Given the description of an element on the screen output the (x, y) to click on. 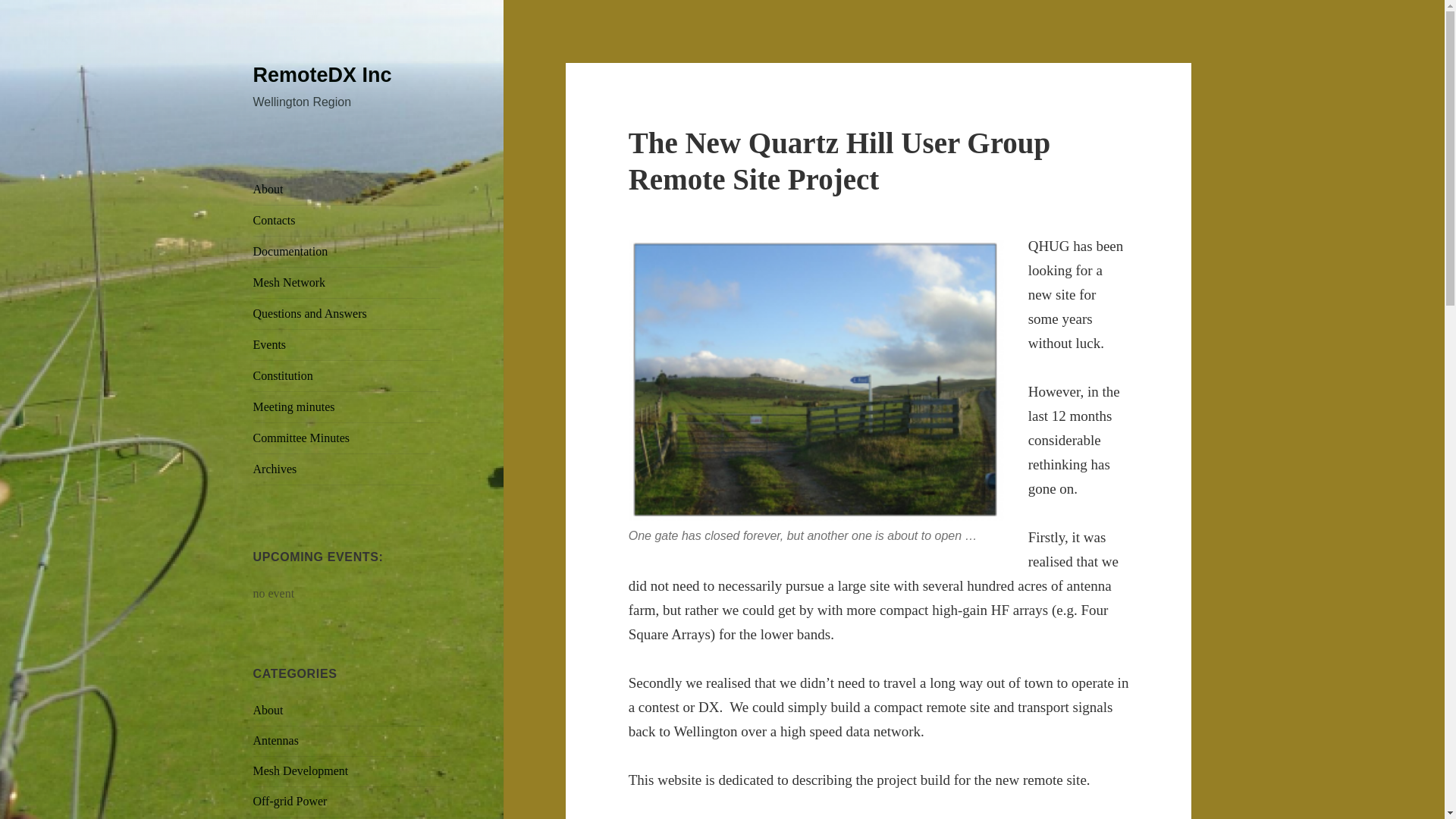
Events (347, 345)
Antennas (275, 739)
Archives (347, 469)
About (268, 709)
Documentation (347, 251)
Committee Minutes (347, 438)
RemoteDX Inc (322, 74)
Meeting minutes (347, 407)
Mesh Network (347, 282)
Constitution (347, 376)
Contacts (347, 220)
About (347, 189)
Mesh Development (301, 770)
Off-grid Power (290, 800)
Questions and Answers (347, 313)
